Given the description of an element on the screen output the (x, y) to click on. 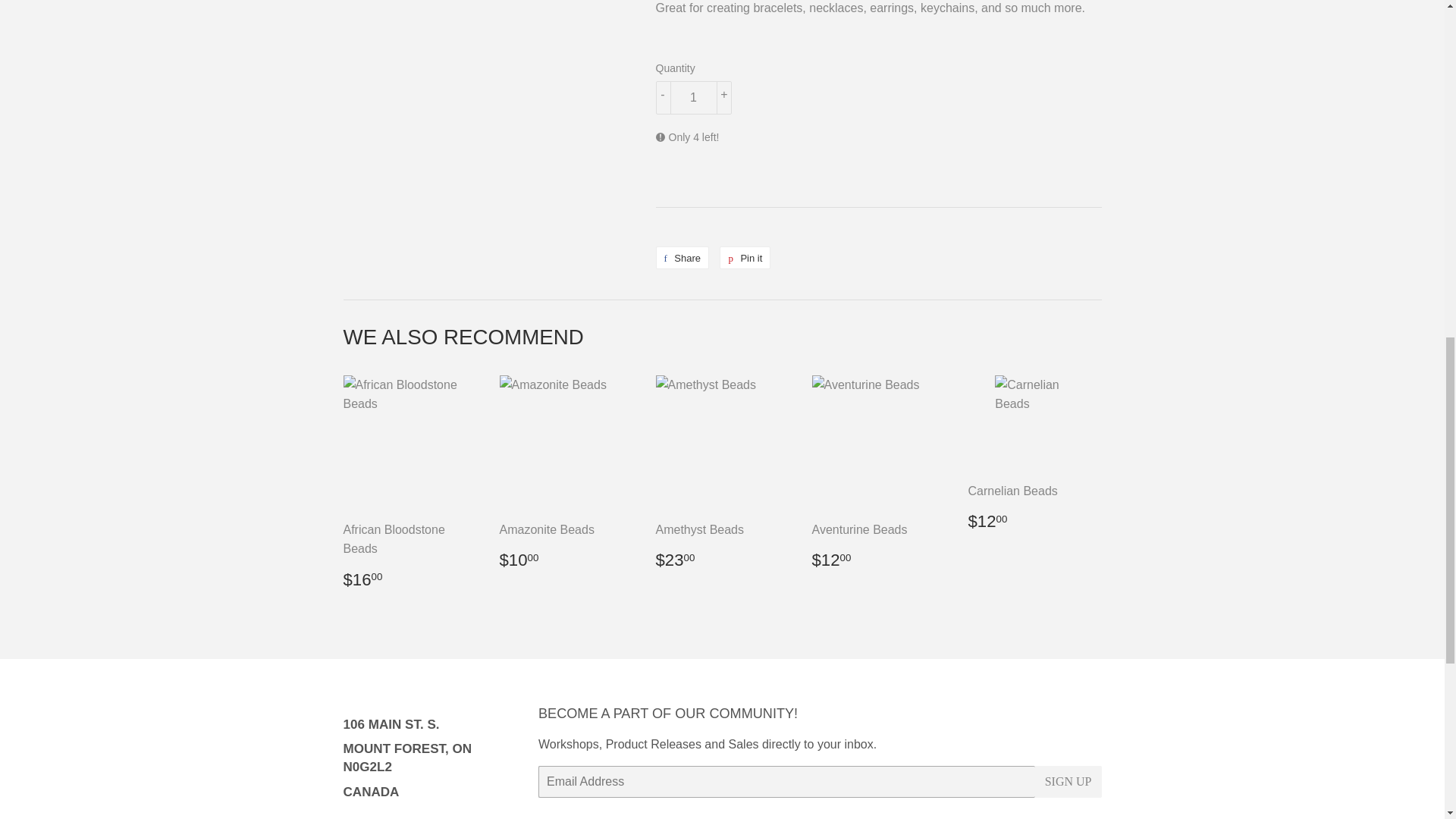
Share on Facebook (682, 257)
1 (692, 97)
Pin on Pinterest (744, 257)
